Given the description of an element on the screen output the (x, y) to click on. 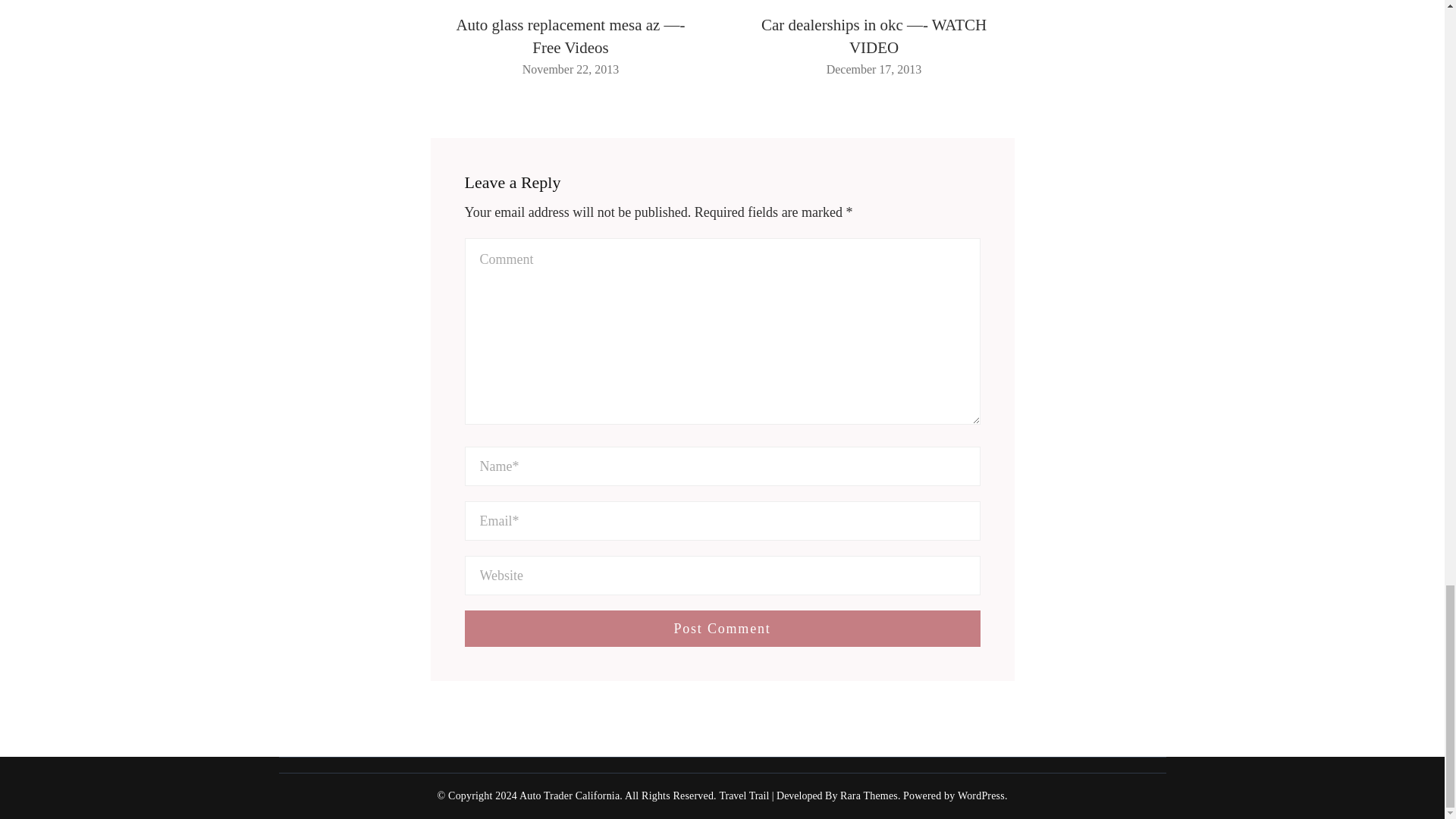
Uncategorized (873, 2)
November 22, 2013 (571, 69)
Auto Trader California (569, 795)
Post Comment (721, 628)
WordPress (981, 795)
Post Comment (721, 628)
December 17, 2013 (874, 69)
Rara Themes (869, 795)
Uncategorized (570, 2)
